Given the description of an element on the screen output the (x, y) to click on. 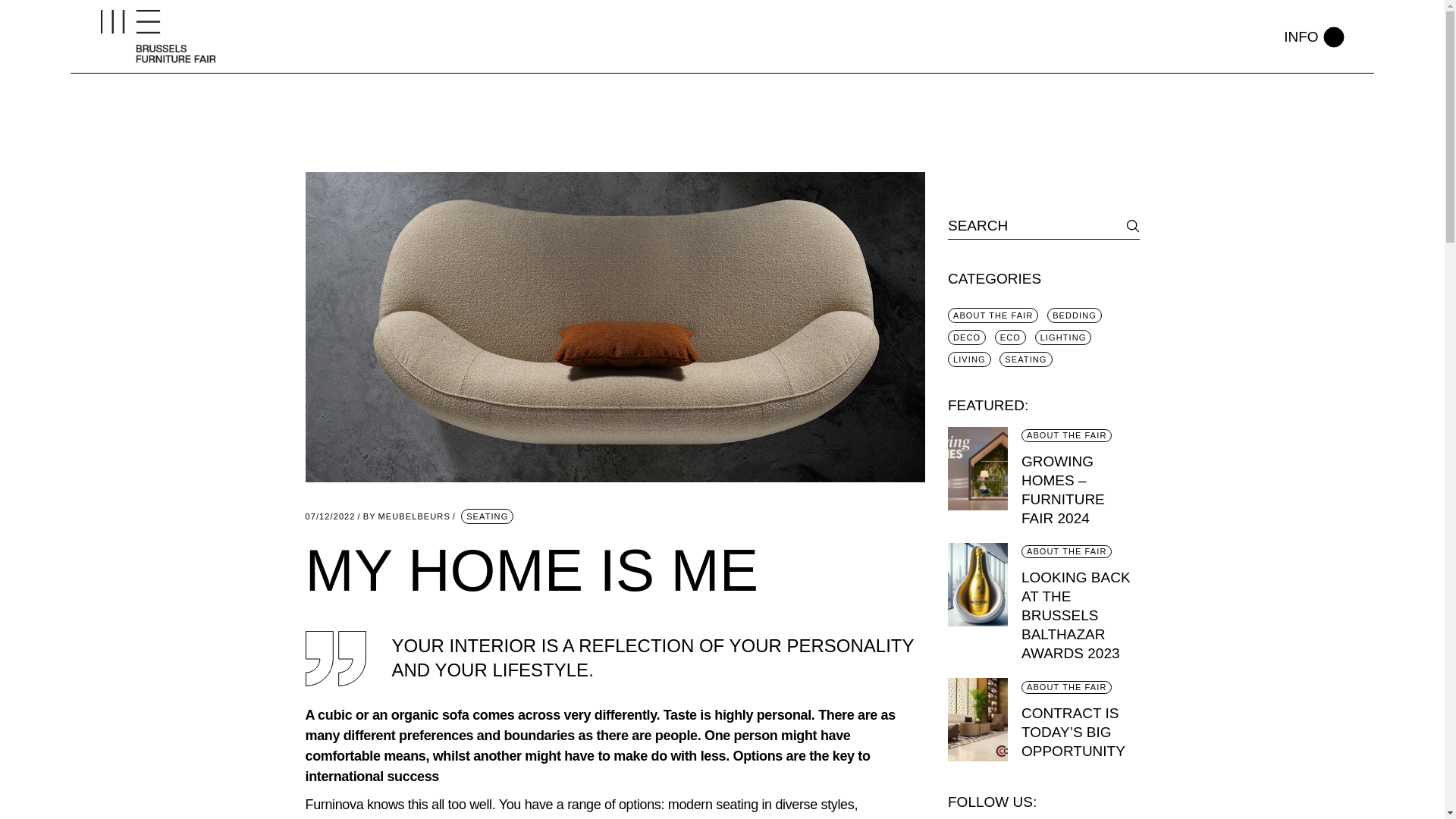
ECO (1010, 337)
BEDDING (405, 516)
SEATING (1074, 315)
ABOUT THE FAIR (1025, 358)
LIVING (1067, 435)
INFO (969, 358)
SEATING (1313, 36)
ABOUT THE FAIR (487, 516)
ABOUT THE FAIR (1067, 551)
LOOKING BACK AT THE BRUSSELS BALTHAZAR AWARDS 2023 (1067, 686)
ABOUT THE FAIR (1076, 614)
DECO (992, 315)
LIGHTING (966, 337)
